Given the description of an element on the screen output the (x, y) to click on. 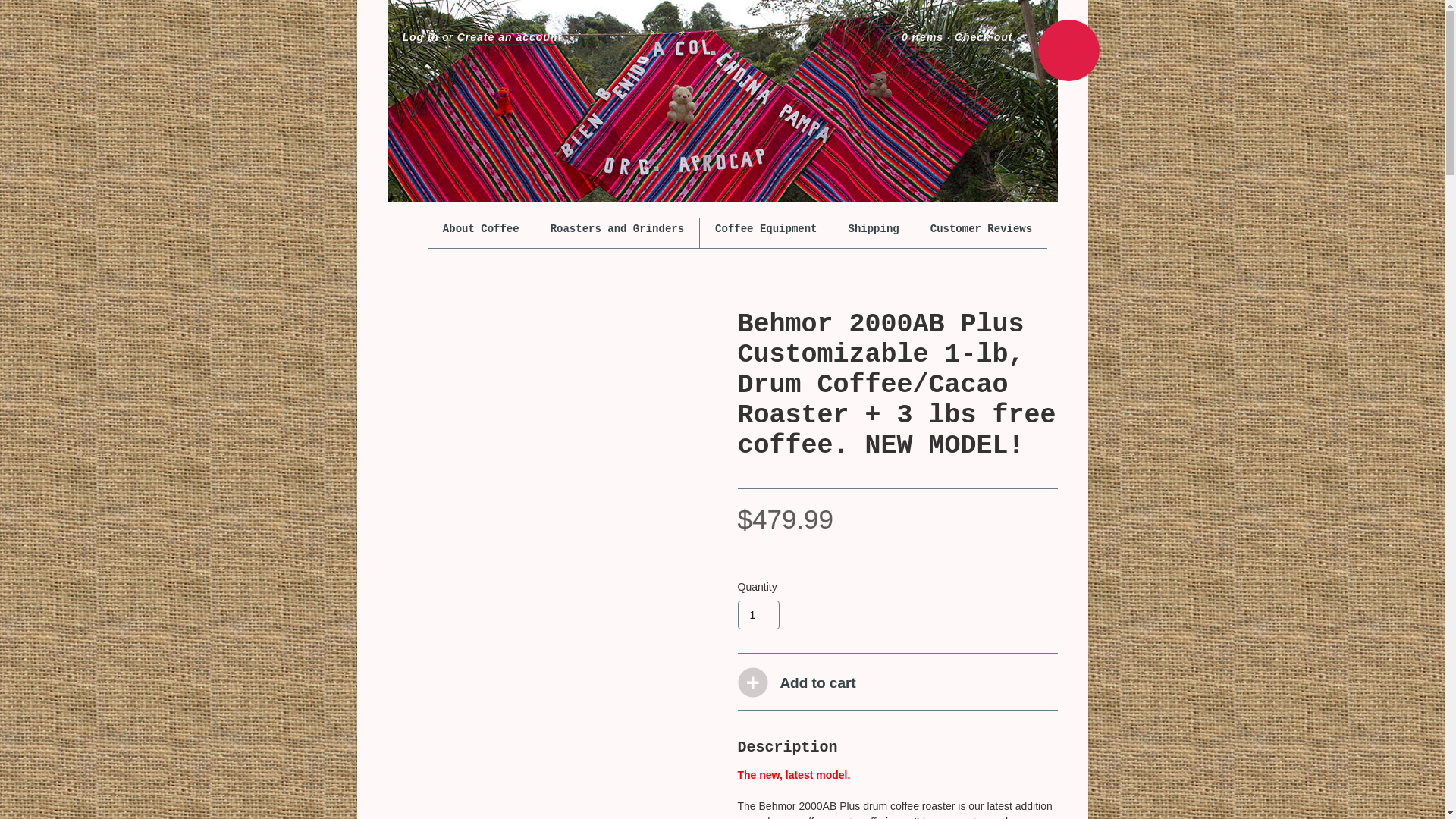
Add to cart (817, 683)
Coffee Equipment (765, 229)
0 items (922, 37)
Roasters and Grinders (617, 229)
Check out (984, 38)
Log in (419, 38)
Customer Reviews (981, 229)
Shipping (873, 229)
1 (757, 614)
Add to cart (817, 683)
About Coffee (480, 229)
Create an account (509, 38)
